Given the description of an element on the screen output the (x, y) to click on. 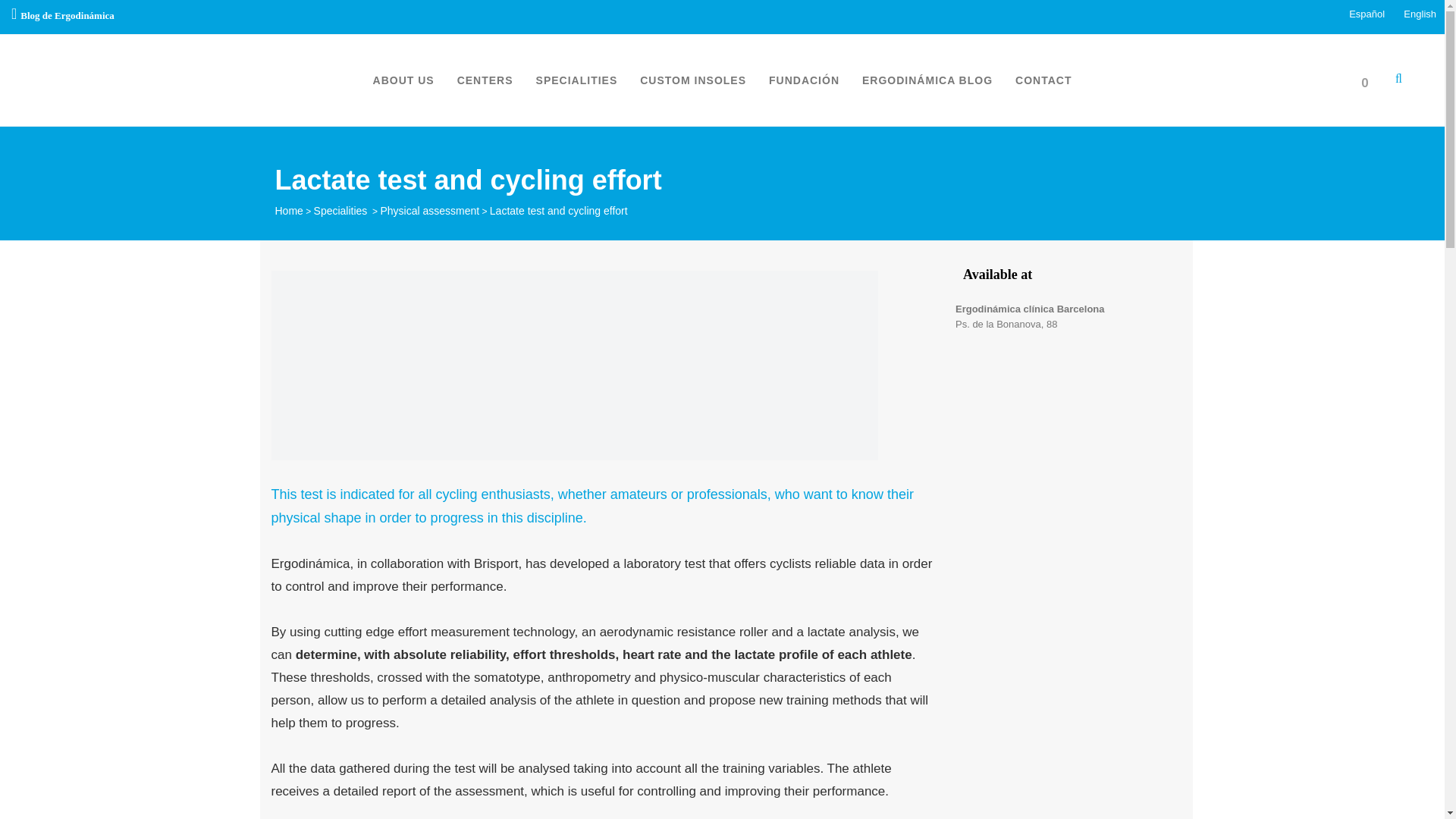
CUSTOM INSOLES (692, 80)
Home (288, 210)
Physical assessment (429, 210)
Lactate test and cycling effort (573, 365)
Specialities (341, 210)
SPECIALITIES (577, 80)
English (1417, 13)
0 (1368, 80)
